Given the description of an element on the screen output the (x, y) to click on. 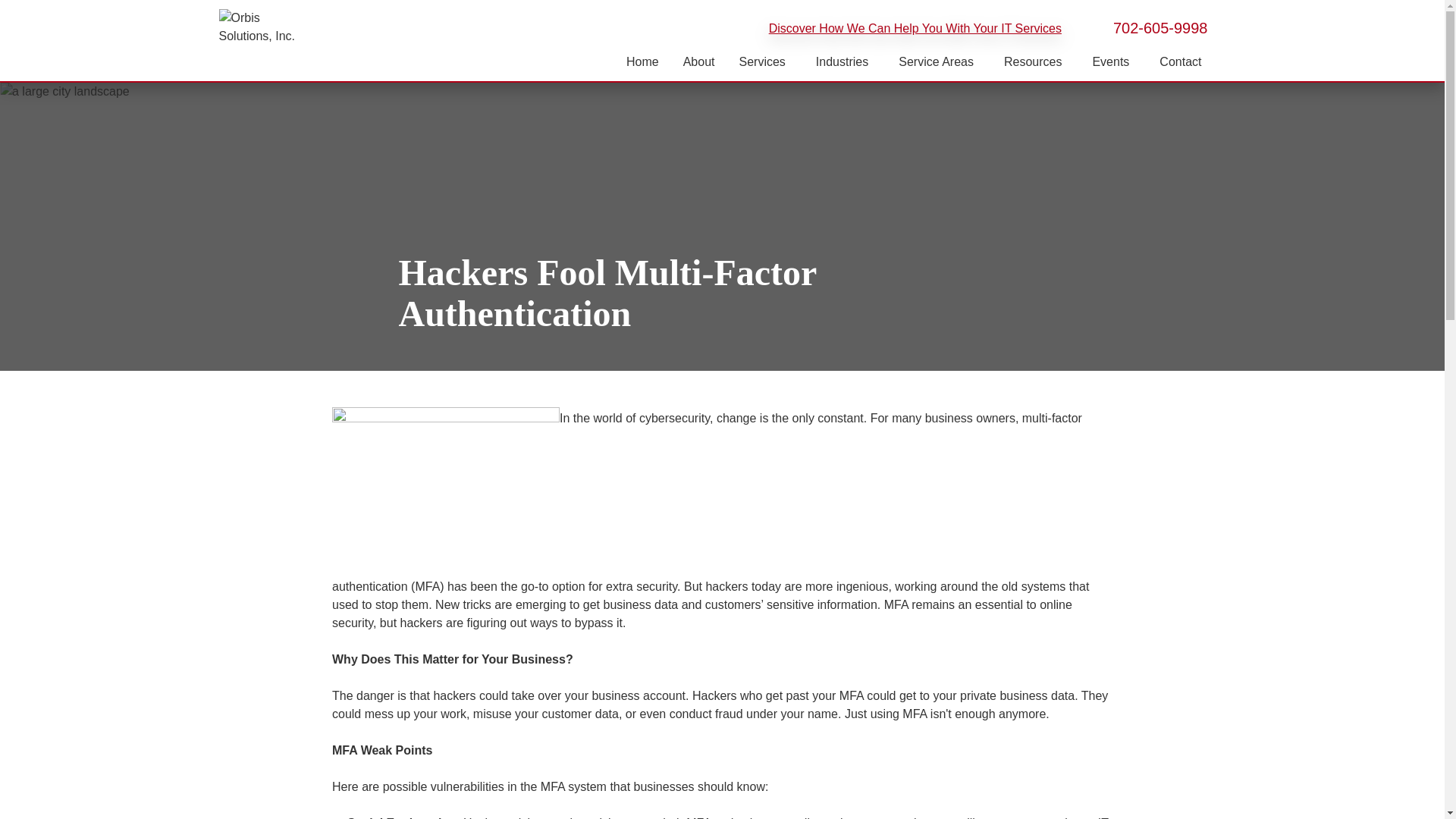
Discover How We Can Help You With Your IT Services (915, 28)
Home (642, 61)
About (698, 61)
702-605-9998 (1152, 27)
